Given the description of an element on the screen output the (x, y) to click on. 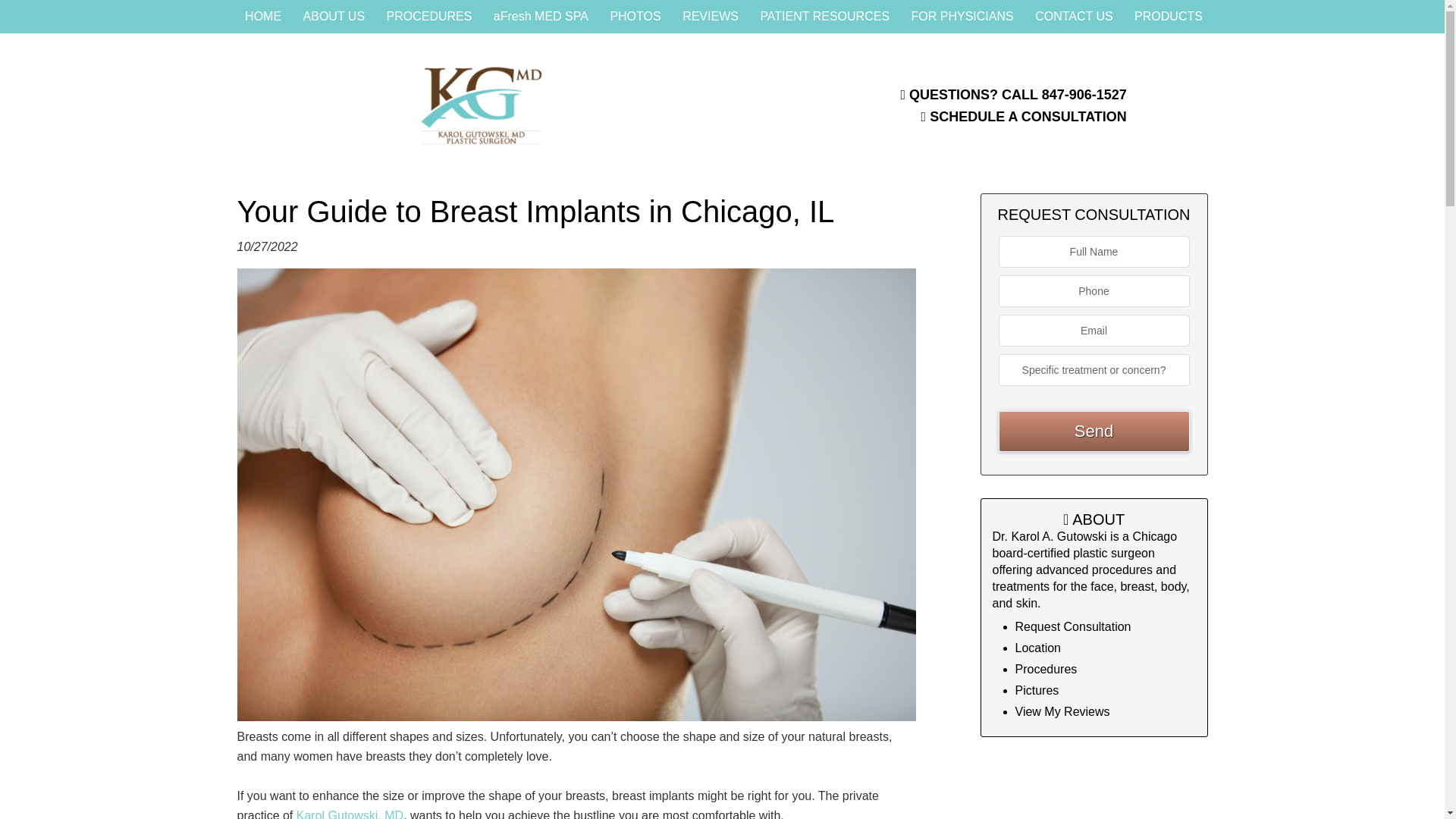
PRODUCTS (1168, 16)
ABOUT US (333, 16)
PATIENT RESOURCES (824, 16)
FOR PHYSICIANS (963, 16)
HOME (263, 16)
PHOTOS (634, 16)
aFresh MED SPA (540, 16)
Send (1093, 431)
CONTACT US (1074, 16)
PROCEDURES (429, 16)
